Given the description of an element on the screen output the (x, y) to click on. 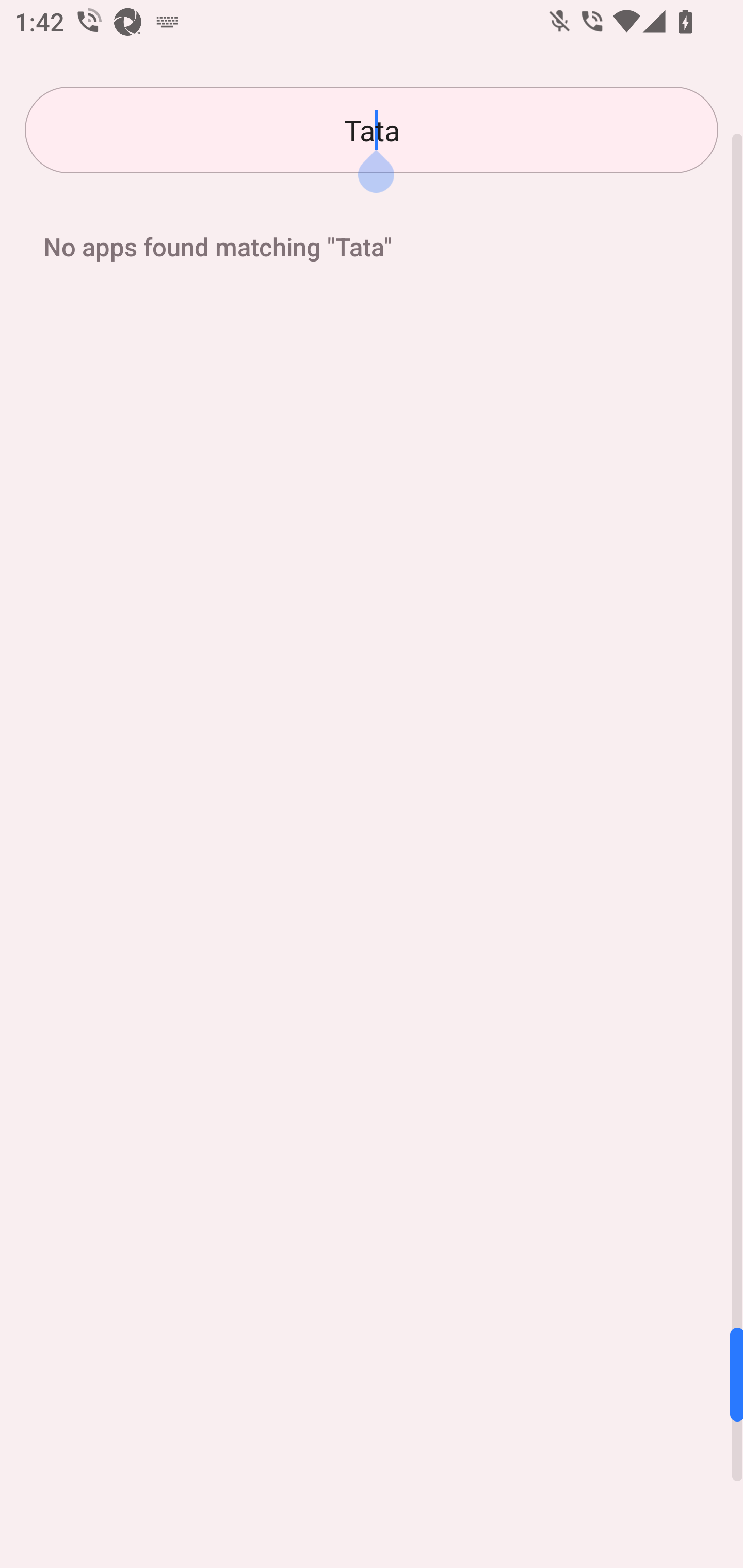
Tata (371, 130)
